Given the description of an element on the screen output the (x, y) to click on. 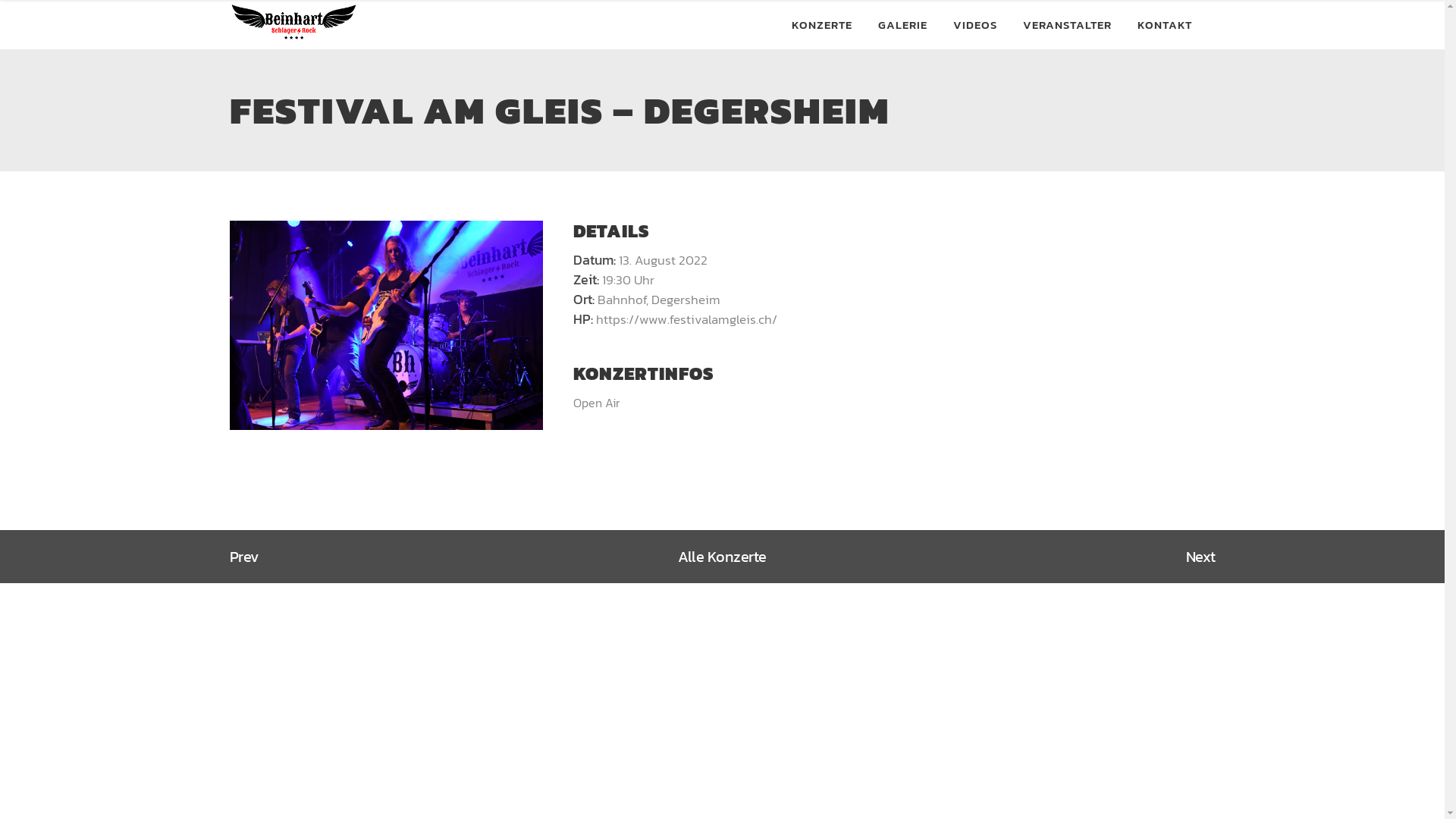
Alle Konzerte Element type: text (721, 556)
KONZERTE Element type: text (821, 24)
https://www.festivalamgleis.ch/ Element type: text (686, 319)
VIDEOS Element type: text (975, 24)
VERANSTALTER Element type: text (1067, 24)
GALERIE Element type: text (901, 24)
Prev Element type: text (243, 556)
KONTAKT Element type: text (1163, 24)
Next Element type: text (1200, 556)
